Given the description of an element on the screen output the (x, y) to click on. 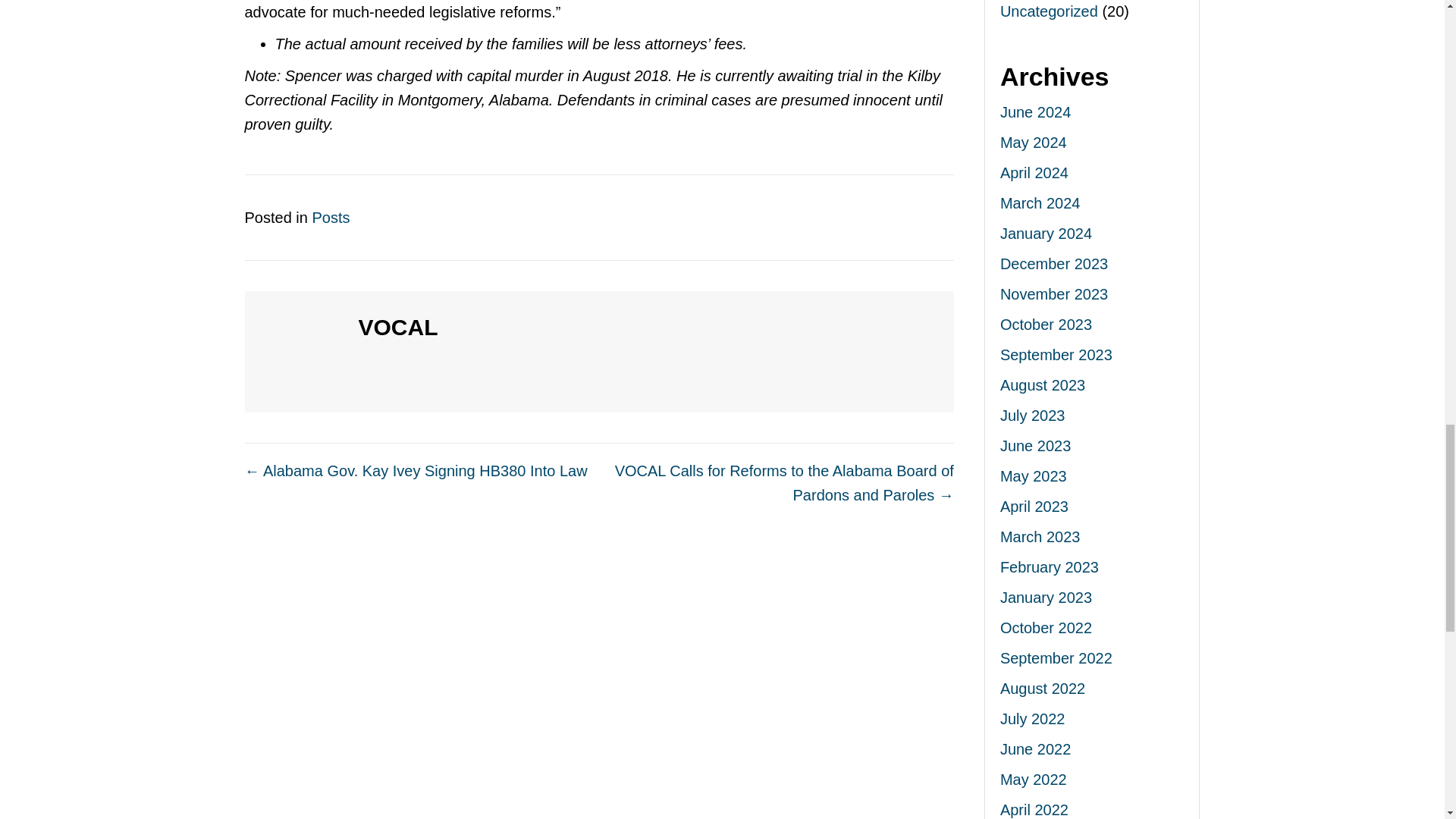
Uncategorized (1048, 11)
Posts (330, 217)
